Given the description of an element on the screen output the (x, y) to click on. 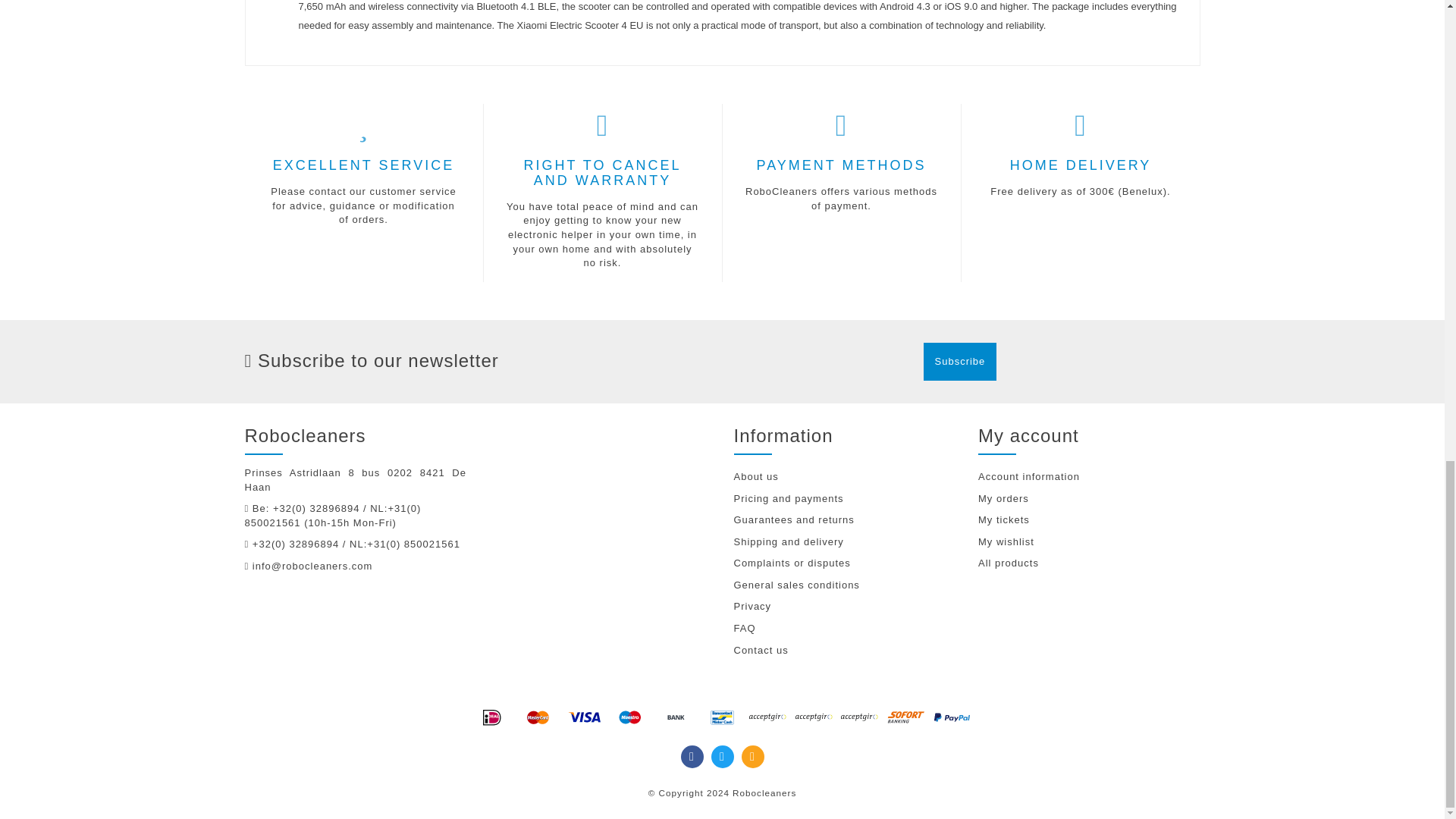
Pricing and payments (844, 499)
Subscribe (960, 361)
Contact us (844, 650)
My wishlist (1088, 542)
My orders (1088, 499)
Shipping and delivery (844, 542)
Privacy (844, 607)
My tickets (1088, 520)
About us (844, 477)
General sales conditions (844, 585)
Complaints or disputes (844, 563)
FAQ (844, 628)
Guarantees and returns (844, 520)
Account information (1088, 477)
